Given the description of an element on the screen output the (x, y) to click on. 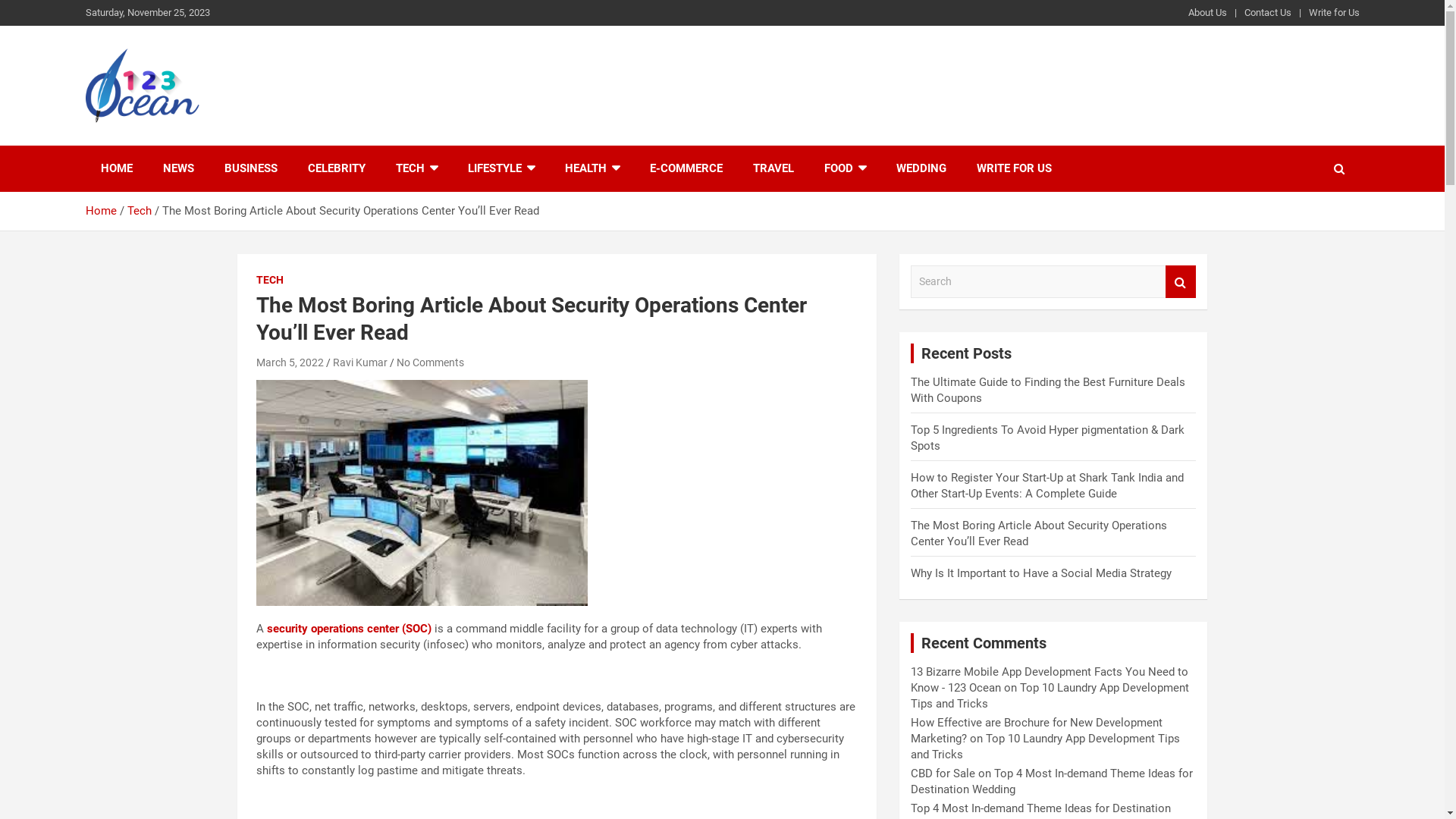
WRITE FOR US Element type: text (1013, 168)
security operations center (SOC) Element type: text (348, 628)
TECH Element type: text (269, 280)
Search Element type: text (1180, 281)
Tech Element type: text (139, 210)
March 5, 2022 Element type: text (289, 362)
Top 4 Most In-demand Theme Ideas for Destination Wedding Element type: text (1051, 781)
CELEBRITY Element type: text (336, 168)
HOME Element type: text (115, 168)
FOOD Element type: text (844, 168)
LIFESTYLE Element type: text (500, 168)
Top 10 Laundry App Development Tips and Tricks Element type: text (1049, 695)
Write for Us Element type: text (1333, 12)
About Us Element type: text (1206, 12)
Skip to content Element type: text (0, 0)
Top 10 Laundry App Development Tips and Tricks Element type: text (1044, 746)
Top 5 Ingredients To Avoid Hyper pigmentation & Dark Spots Element type: text (1047, 437)
Why Is It Important to Have a Social Media Strategy Element type: text (1040, 573)
No Comments Element type: text (429, 362)
WEDDING Element type: text (921, 168)
Ravi Kumar Element type: text (359, 362)
How Effective are Brochure for New Development Marketing? Element type: text (1036, 730)
123 Ocean Element type: text (157, 142)
Home Element type: text (100, 210)
TRAVEL Element type: text (772, 168)
Contact Us Element type: text (1266, 12)
E-COMMERCE Element type: text (685, 168)
HEALTH Element type: text (591, 168)
TECH Element type: text (416, 168)
NEWS Element type: text (177, 168)
BUSINESS Element type: text (250, 168)
CBD for Sale Element type: text (942, 773)
